Given the description of an element on the screen output the (x, y) to click on. 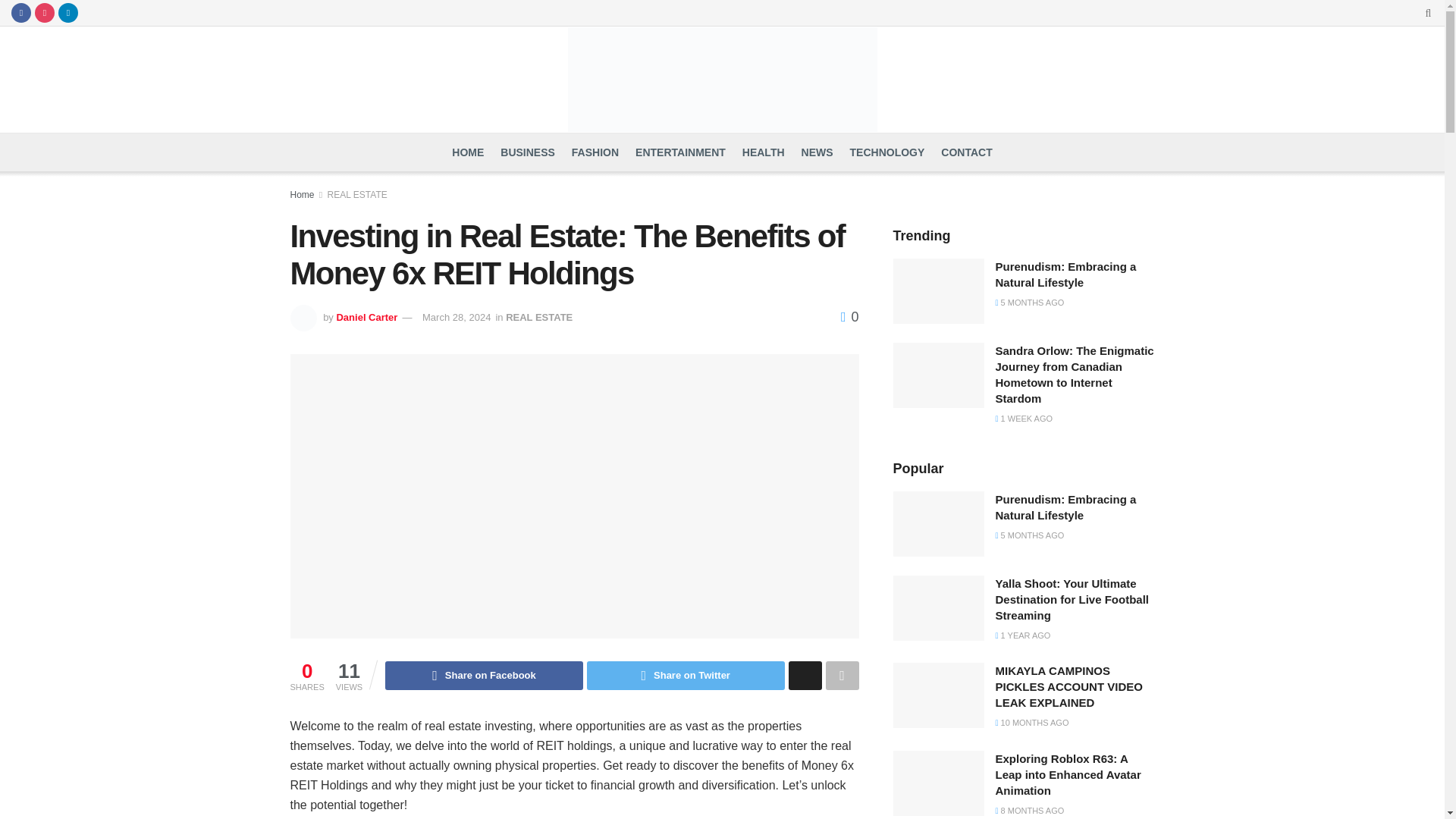
Share on Twitter (685, 675)
HEALTH (763, 151)
Share on Facebook (484, 675)
March 28, 2024 (456, 317)
TECHNOLOGY (887, 151)
Daniel Carter (366, 317)
FASHION (595, 151)
REAL ESTATE (538, 317)
REAL ESTATE (357, 194)
CONTACT (965, 151)
HOME (467, 151)
NEWS (817, 151)
Home (301, 194)
BUSINESS (527, 151)
ENTERTAINMENT (679, 151)
